Given the description of an element on the screen output the (x, y) to click on. 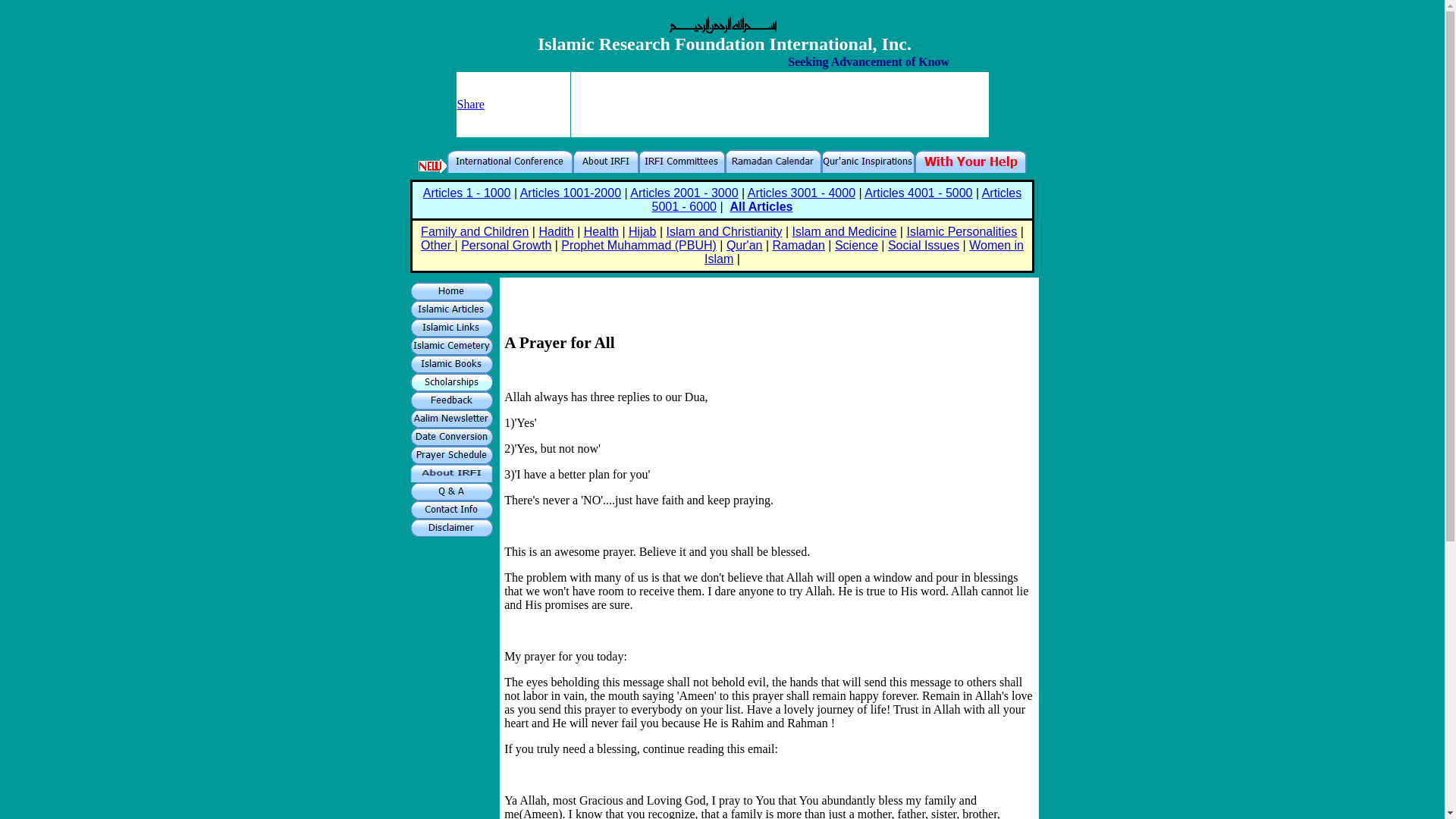
Hijab (642, 231)
Articles 1001-2000 (570, 192)
Personal Growth (506, 245)
Women in Islam (863, 252)
Social Issues (923, 245)
All Articles (760, 205)
Articles 5001 - 6000 (837, 199)
Articles 1 - 1000 (467, 192)
Articles 2001 - 3000 (684, 192)
Islam and Medicine (844, 231)
Ramadan (797, 245)
Articles 4001 - 5000 (918, 192)
Islamic Personalities (960, 231)
Family and Children (474, 231)
Islam and Christianity (724, 231)
